Given the description of an element on the screen output the (x, y) to click on. 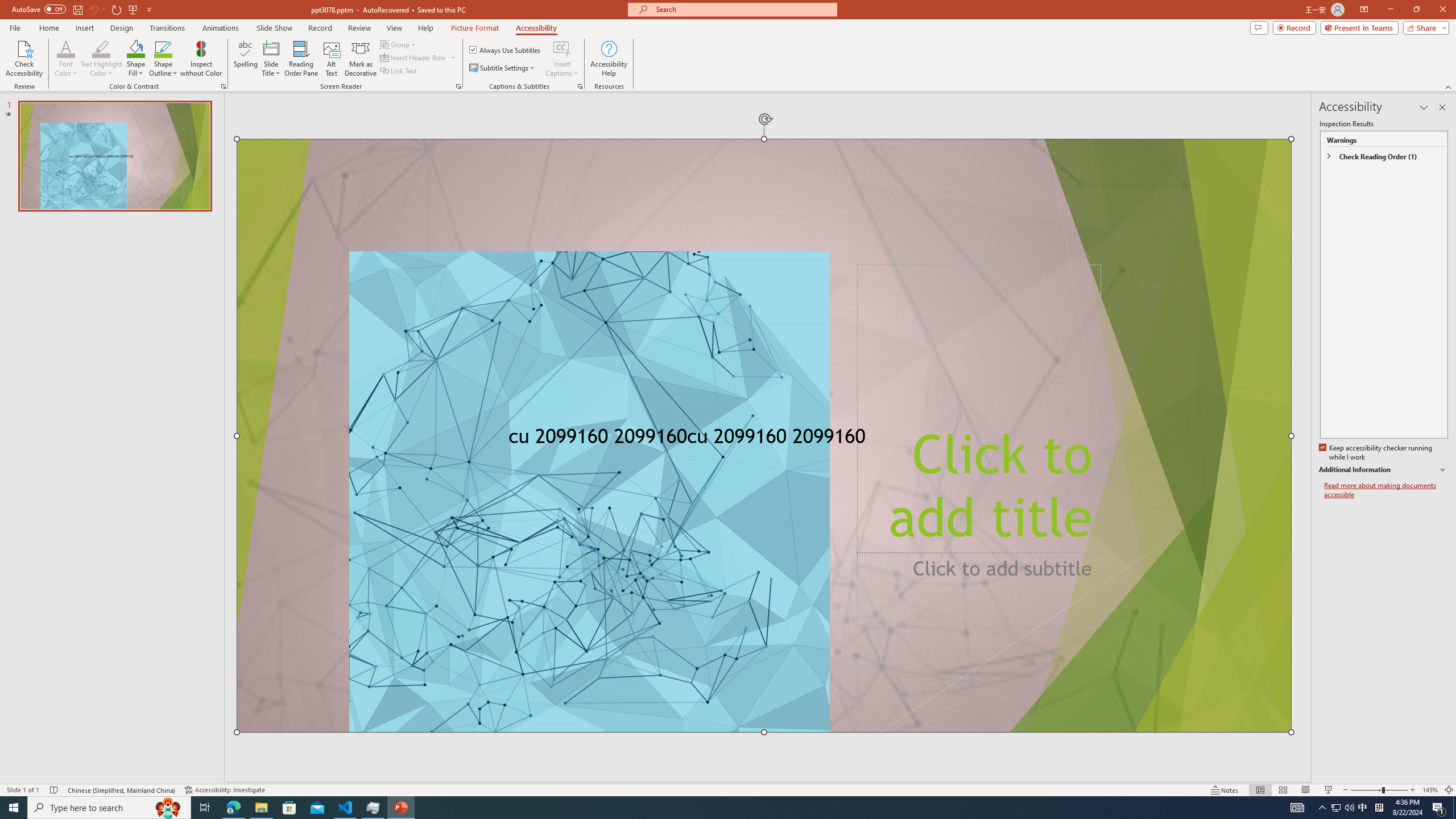
Link Text (399, 69)
Subtitle Settings (502, 67)
Always Use Subtitles (505, 49)
